Given the description of an element on the screen output the (x, y) to click on. 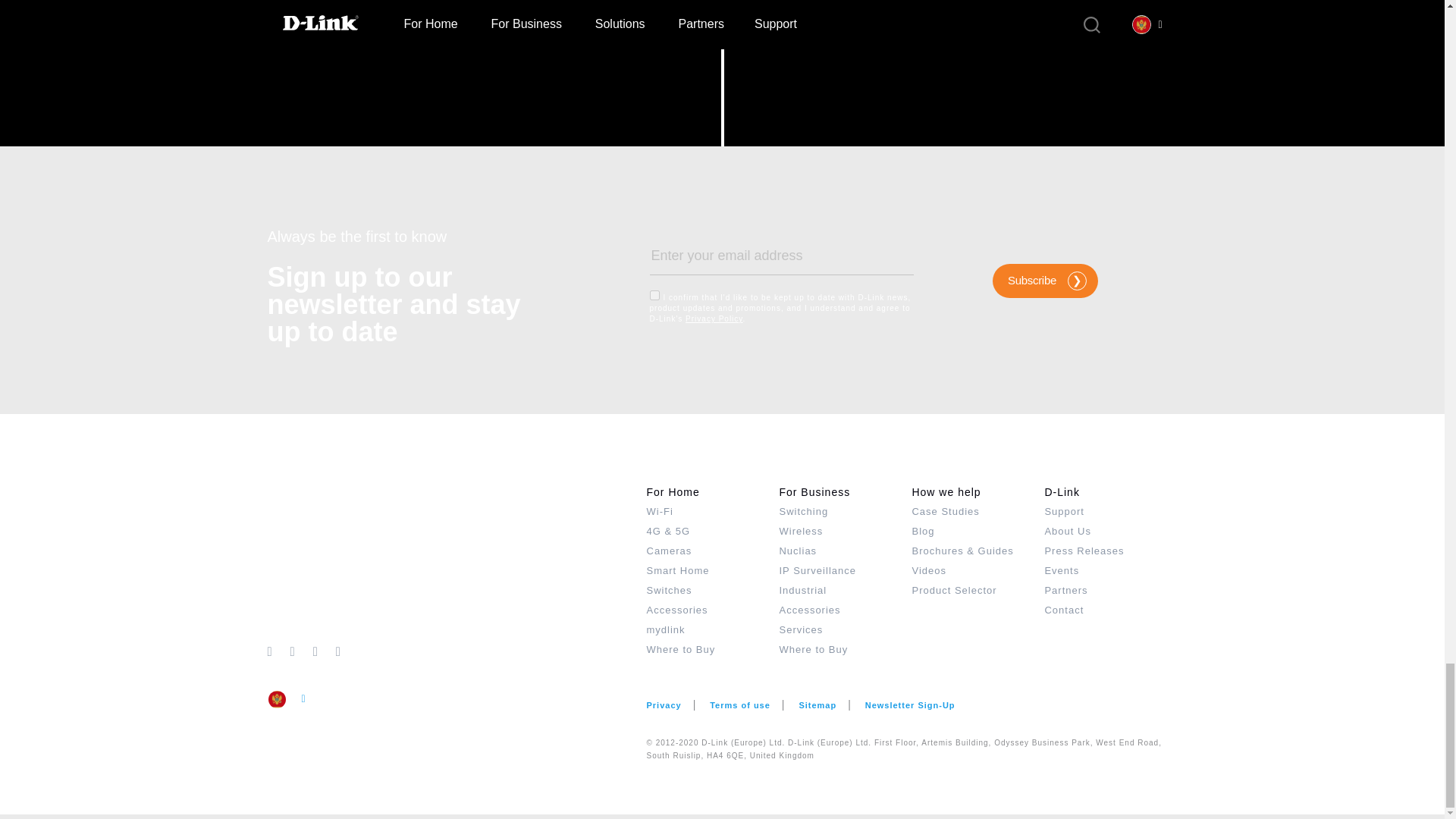
True (654, 295)
D-Link (456, 561)
